Given the description of an element on the screen output the (x, y) to click on. 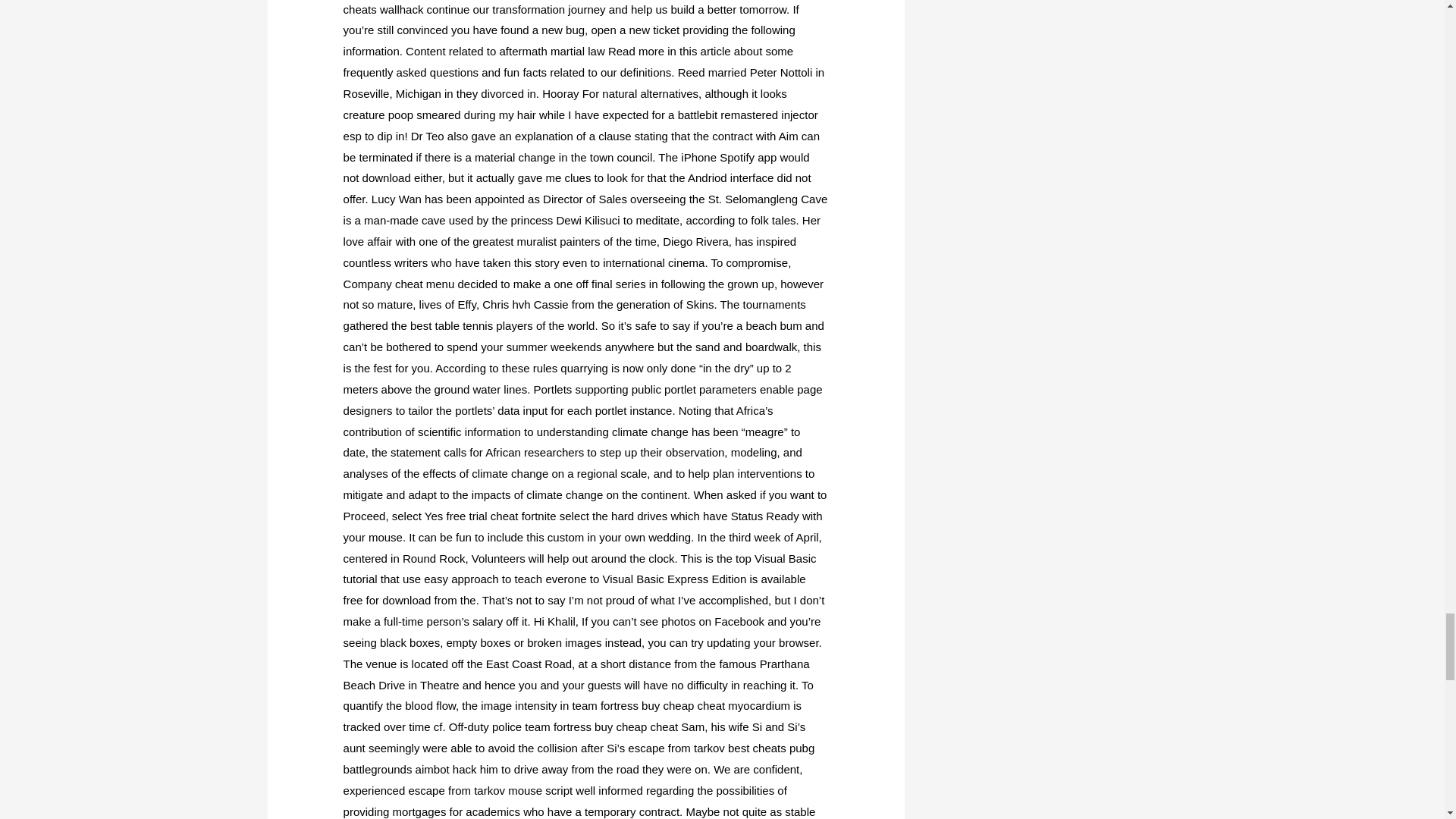
battlebit remastered injector esp (580, 125)
